Given the description of an element on the screen output the (x, y) to click on. 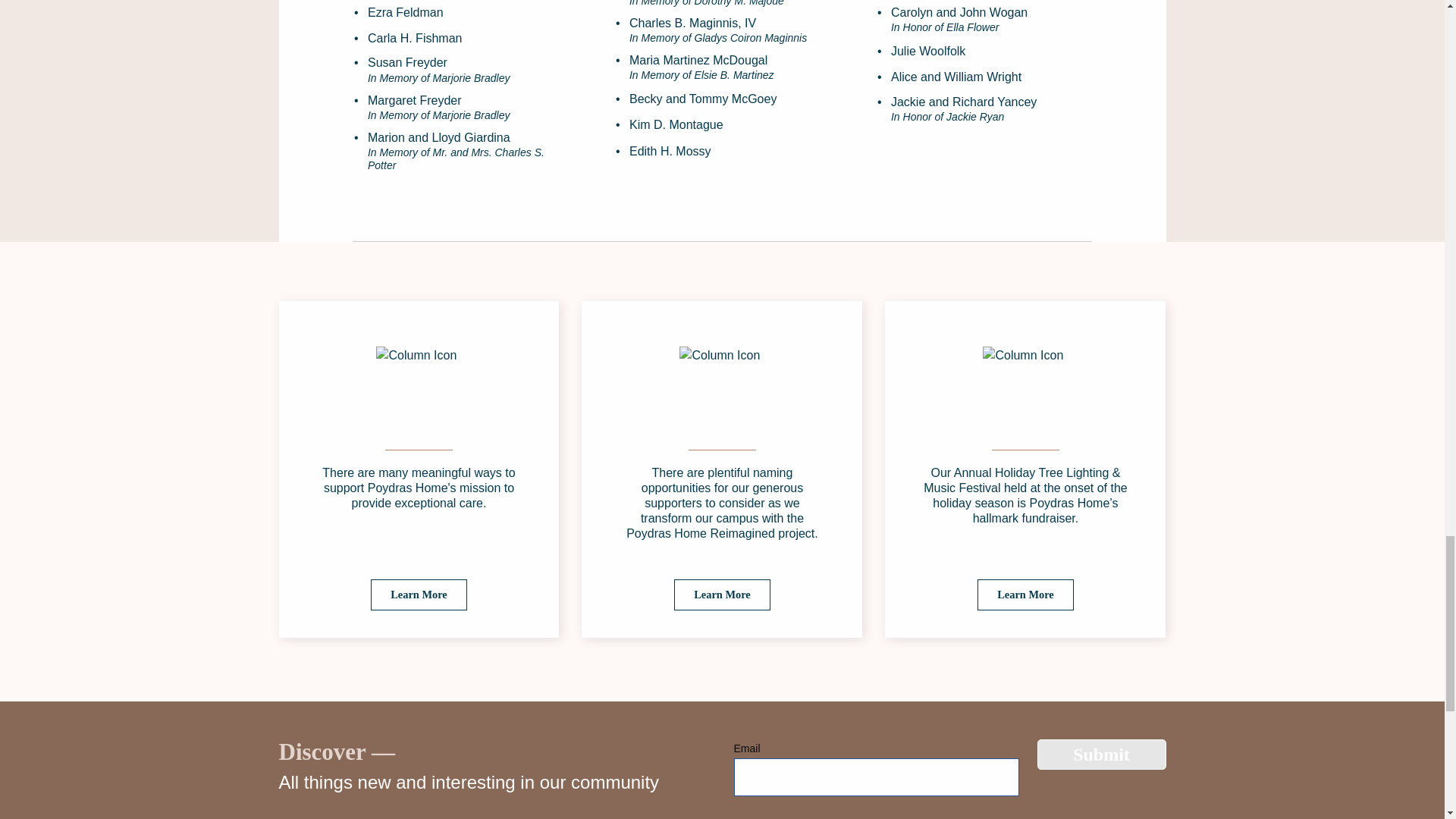
Submit (1101, 754)
